Given the description of an element on the screen output the (x, y) to click on. 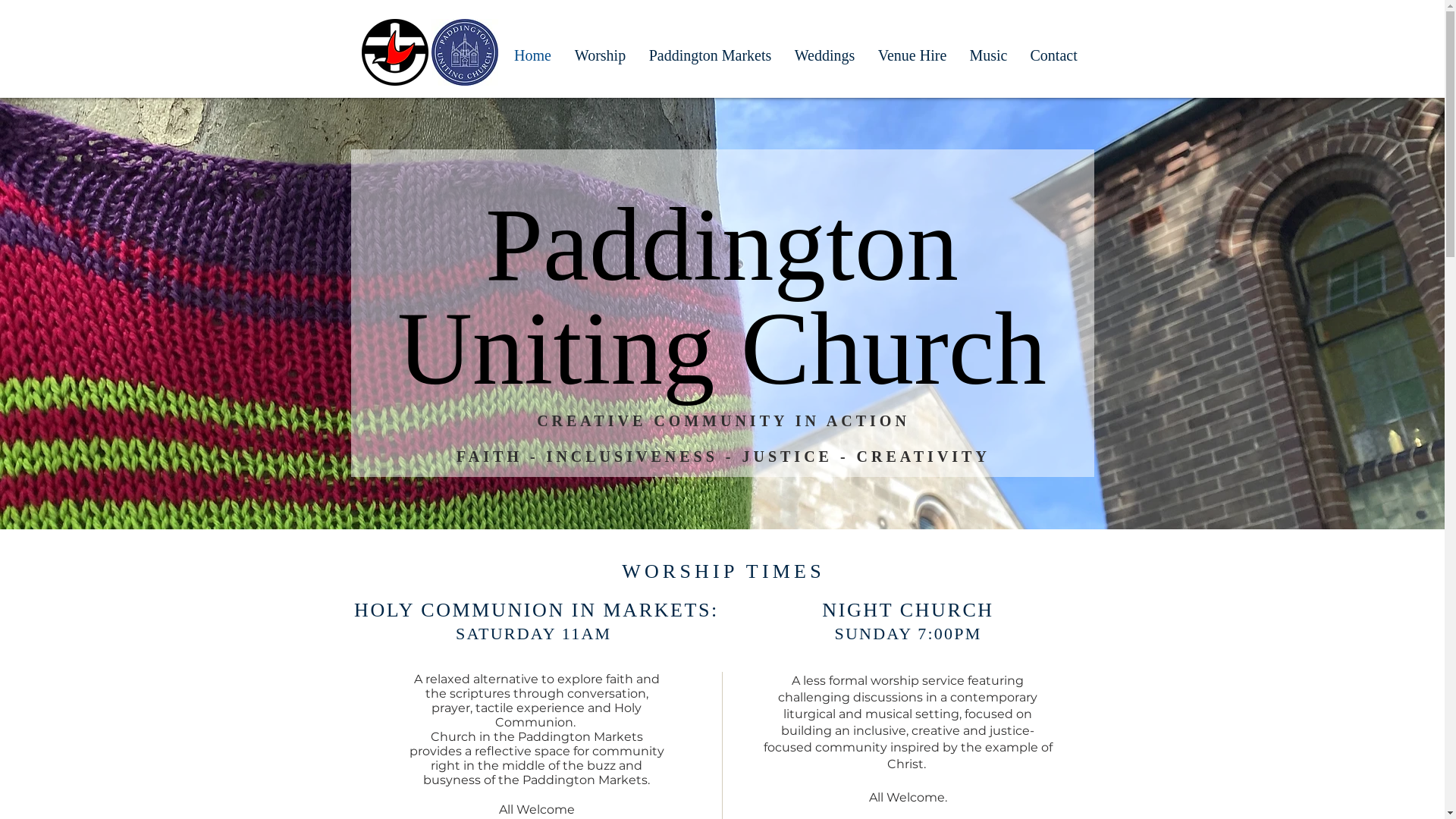
Venue Hire Element type: text (911, 51)
Weddings Element type: text (824, 51)
CREATIVE COMMUNITY IN ACTION Element type: text (723, 420)
Music Element type: text (988, 51)
Contact Element type: text (1053, 51)
Home Element type: text (532, 51)
Paddington Markets Element type: text (709, 51)
Worship Element type: text (599, 51)
